Given the description of an element on the screen output the (x, y) to click on. 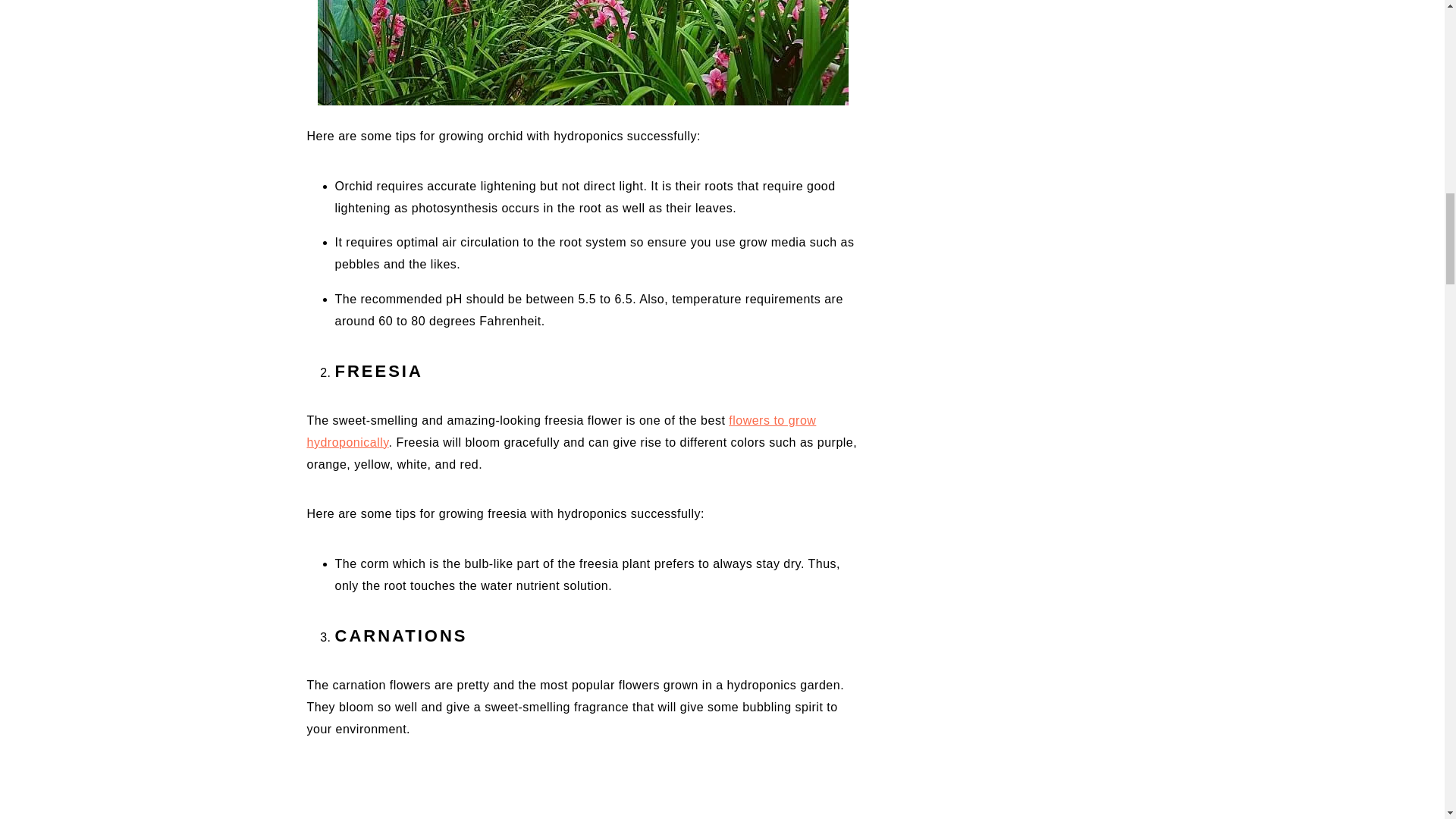
flowers to grow hydroponically (560, 431)
